Given the description of an element on the screen output the (x, y) to click on. 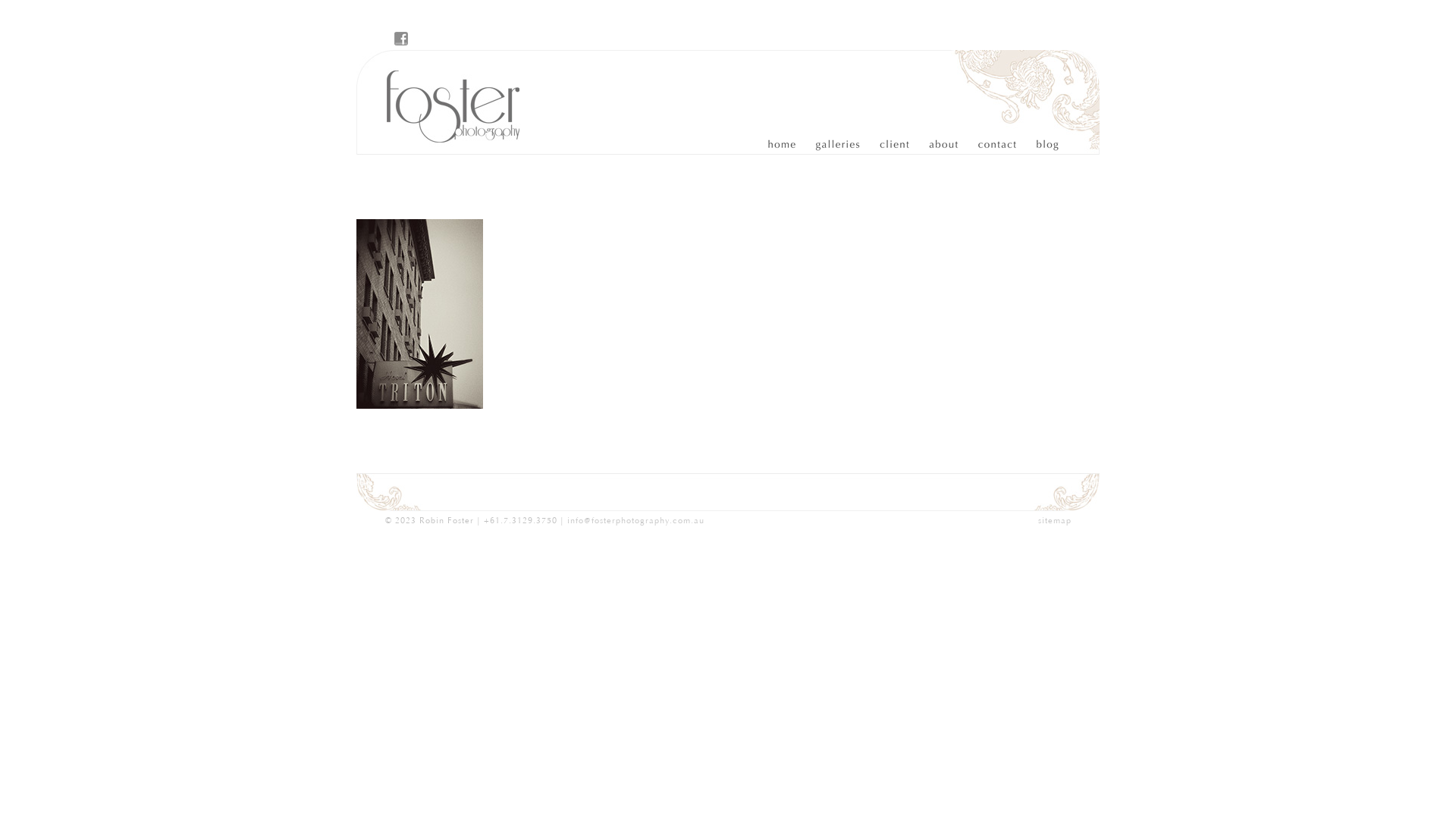
Foster Photography Element type: hover (790, 144)
click to view more images Element type: hover (727, 491)
sitemap Element type: text (1053, 520)
info@fosterphotography.com.au Element type: text (635, 519)
click and drag to view more images Element type: hover (461, 491)
Visit Foster Photography on Facebook Element type: hover (400, 38)
Read the latest news from Foster Photography Element type: hover (1040, 144)
Foster Photography Element type: hover (443, 102)
Contact Foster Photography Element type: hover (990, 144)
Who is Foster Photography? Element type: hover (940, 144)
